Given the description of an element on the screen output the (x, y) to click on. 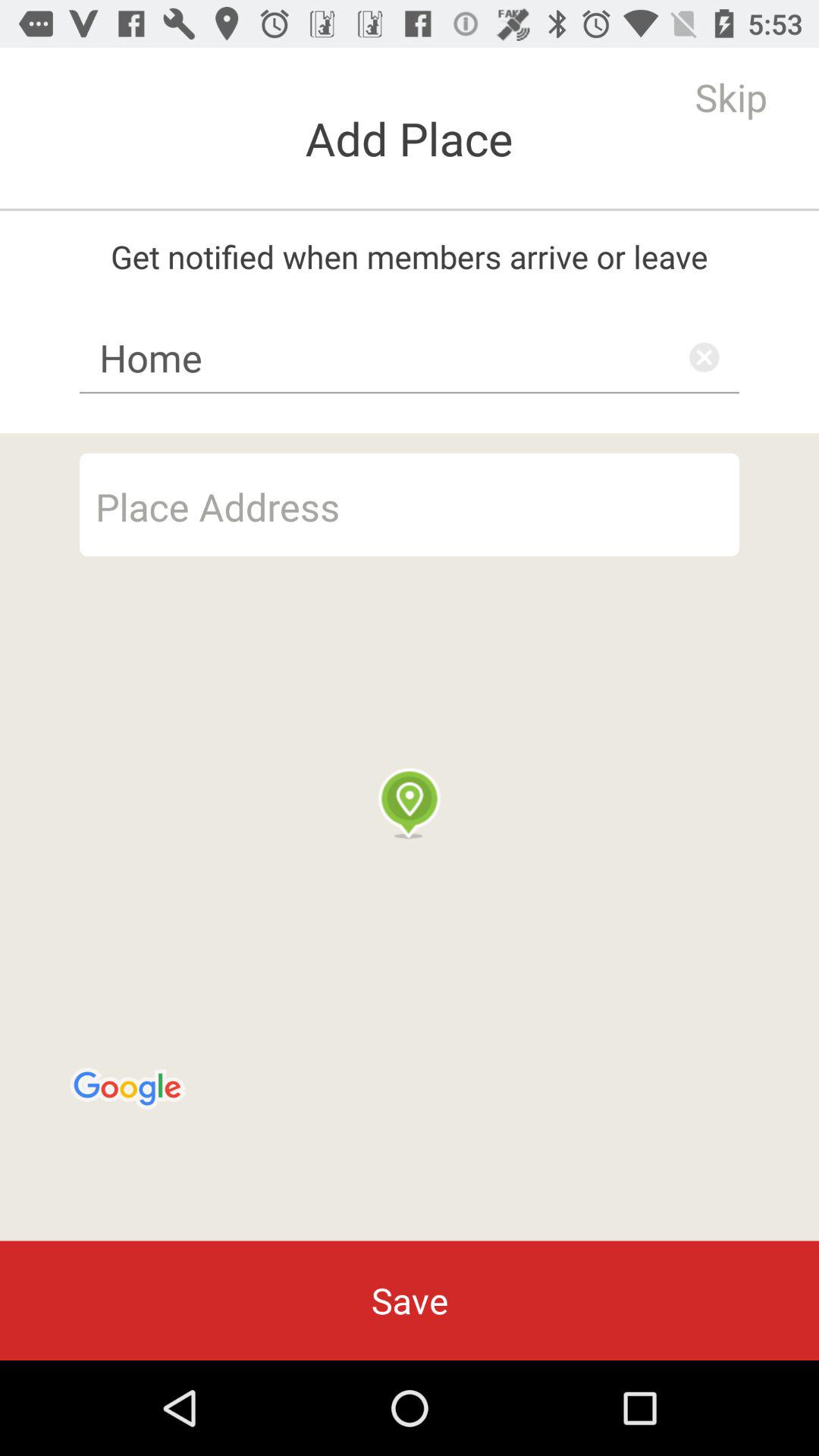
choose icon to the right of the add place (731, 97)
